Given the description of an element on the screen output the (x, y) to click on. 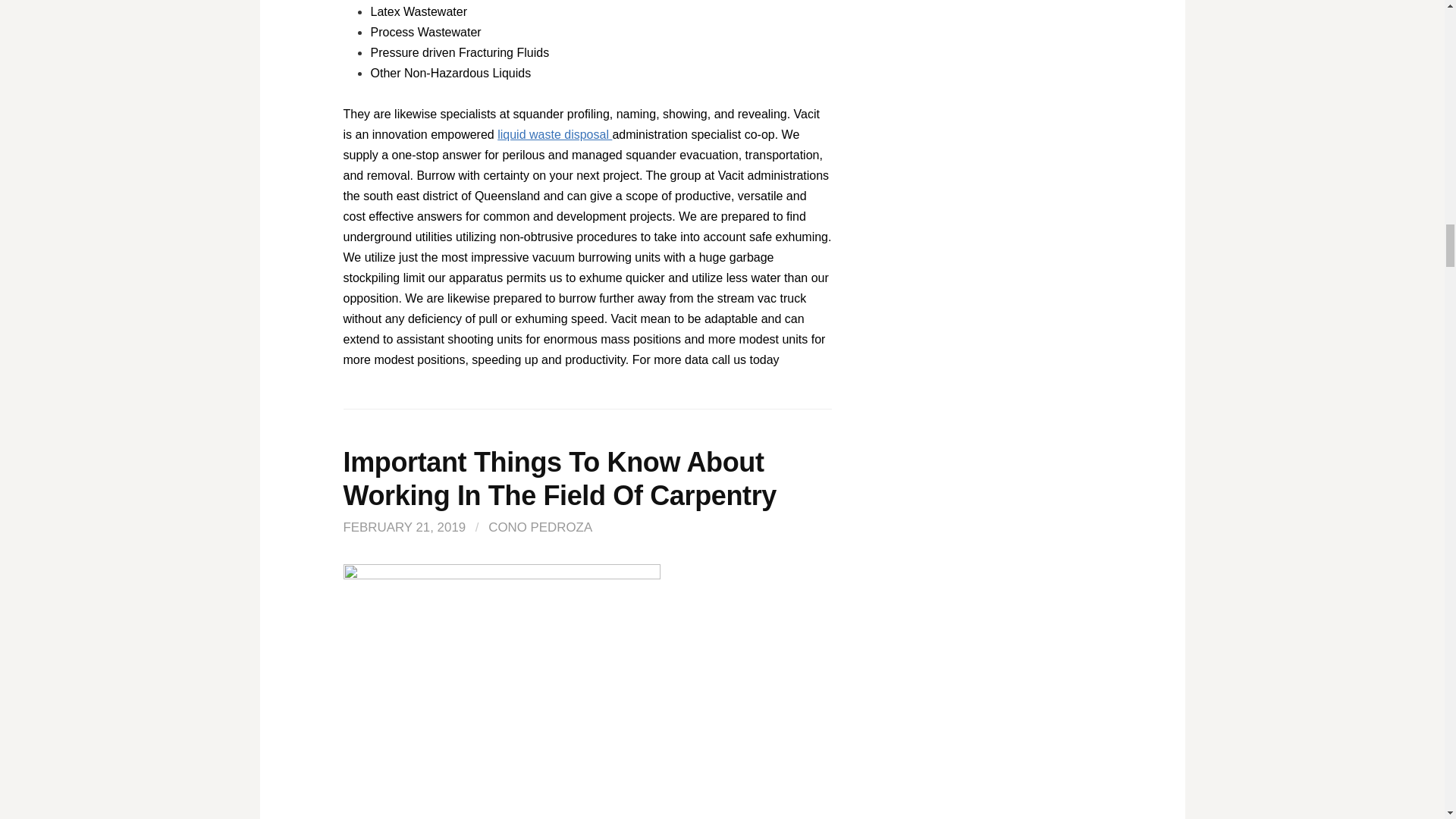
liquid waste disposal (554, 133)
FEBRUARY 21, 2019 (403, 527)
liquid waste disposal (554, 133)
CONO PEDROZA (539, 527)
